Given the description of an element on the screen output the (x, y) to click on. 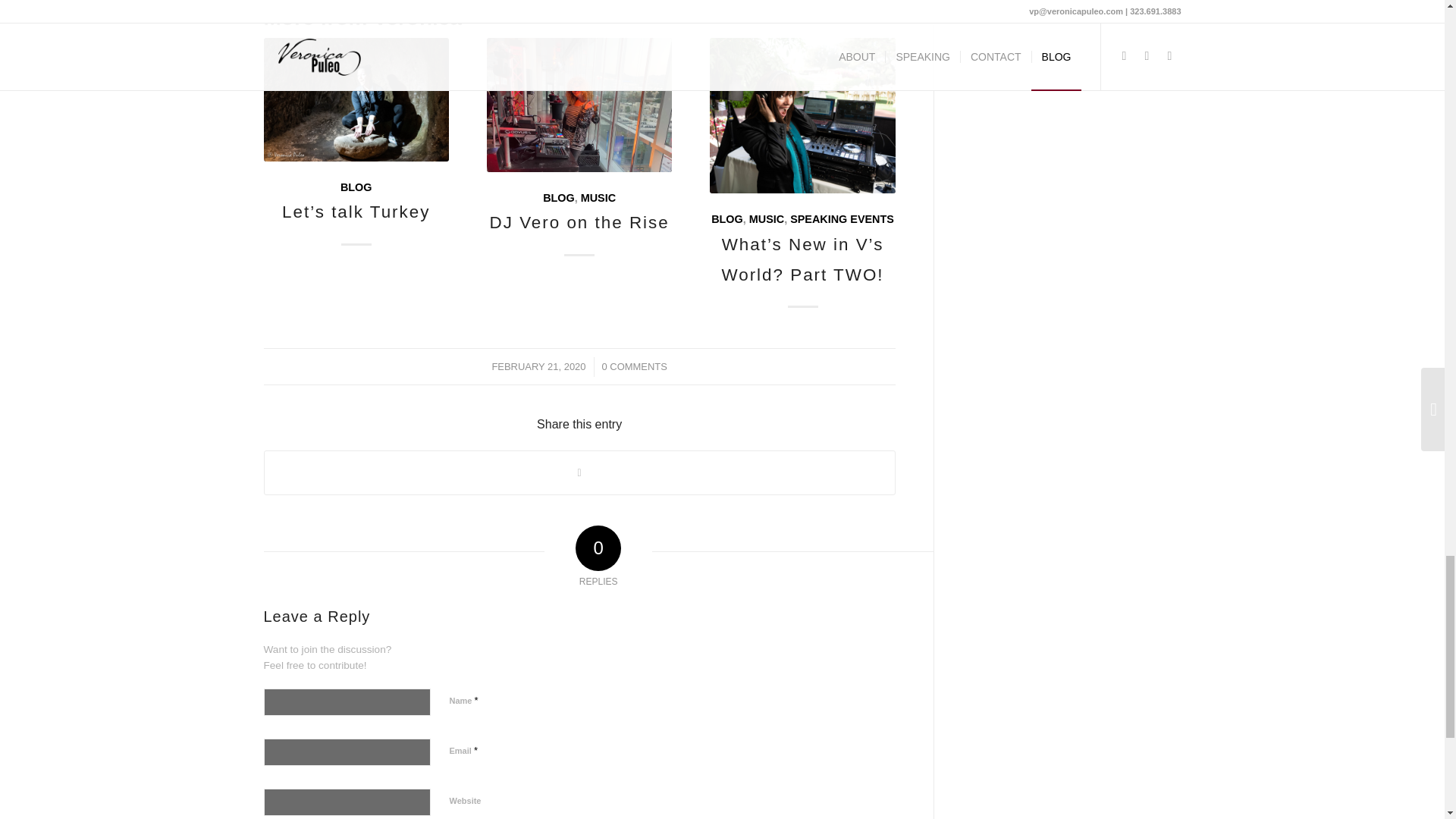
MUSIC (766, 218)
DJ Vero on the Rise (579, 221)
BLOG (559, 197)
DJ Vero on the Rise (579, 221)
BLOG (726, 218)
MUSIC (597, 197)
SPEAKING EVENTS (841, 218)
BLOG (356, 186)
DJ Vero on the Rise (578, 104)
